Given the description of an element on the screen output the (x, y) to click on. 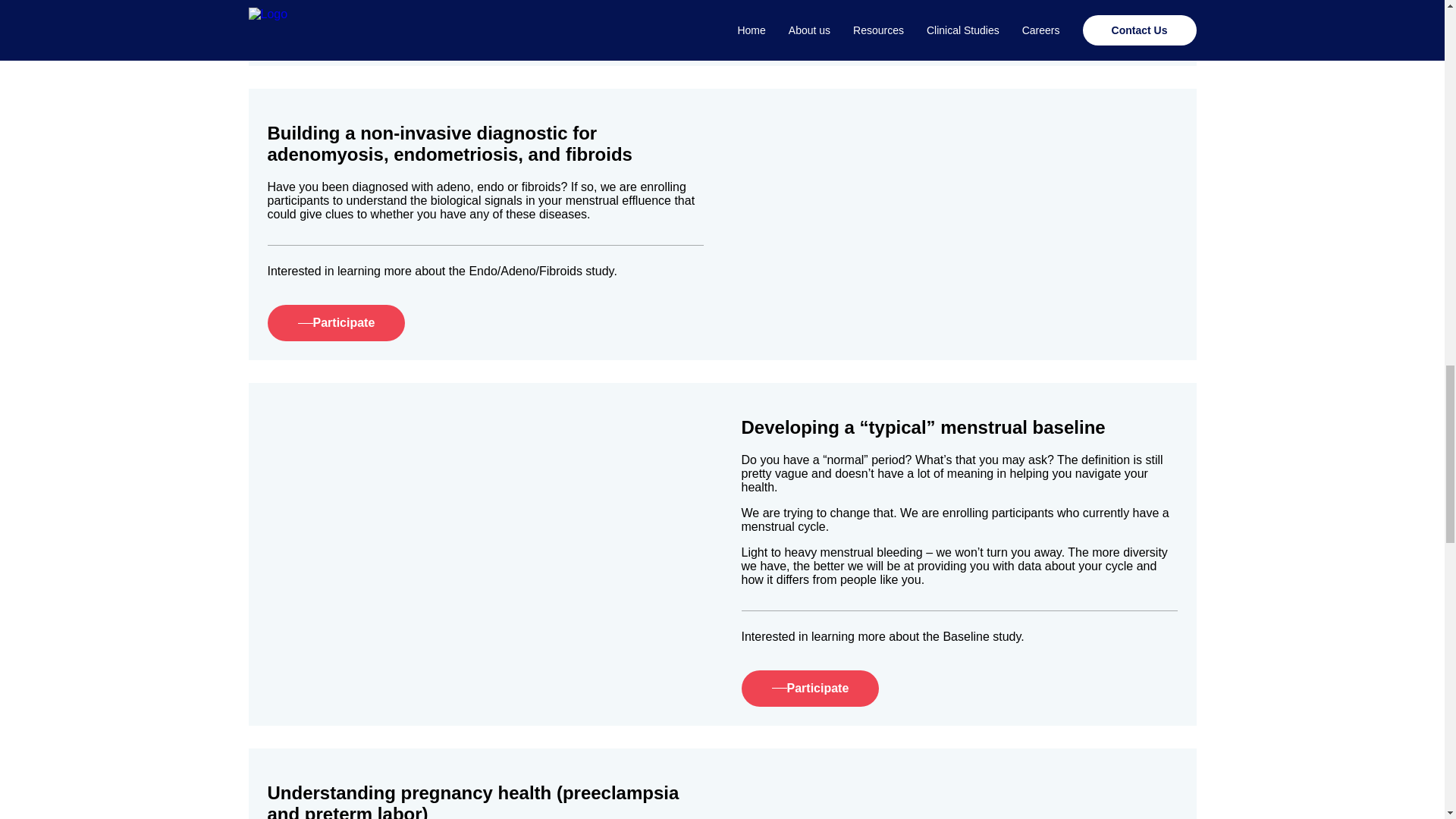
Participate (959, 28)
Participate (810, 28)
Participate (810, 688)
Participate (335, 322)
